Given the description of an element on the screen output the (x, y) to click on. 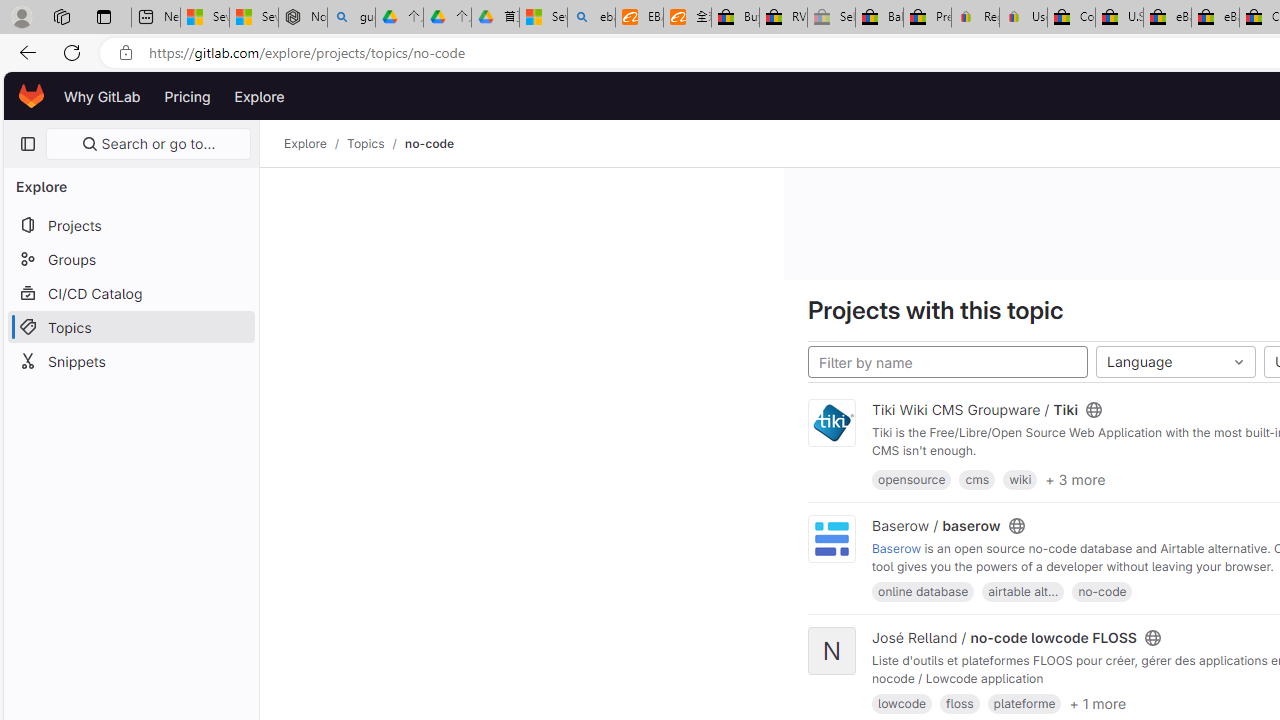
Projects (130, 224)
no-code (429, 143)
Consumer Health Data Privacy Policy - eBay Inc. (1071, 17)
Primary navigation sidebar (27, 143)
Language (1175, 362)
Pricing (187, 95)
CI/CD Catalog (130, 292)
Explore (259, 95)
Why GitLab (102, 95)
Baserow (896, 548)
+ 3 more (1074, 478)
wiki (1019, 479)
Groups (130, 259)
